Given the description of an element on the screen output the (x, y) to click on. 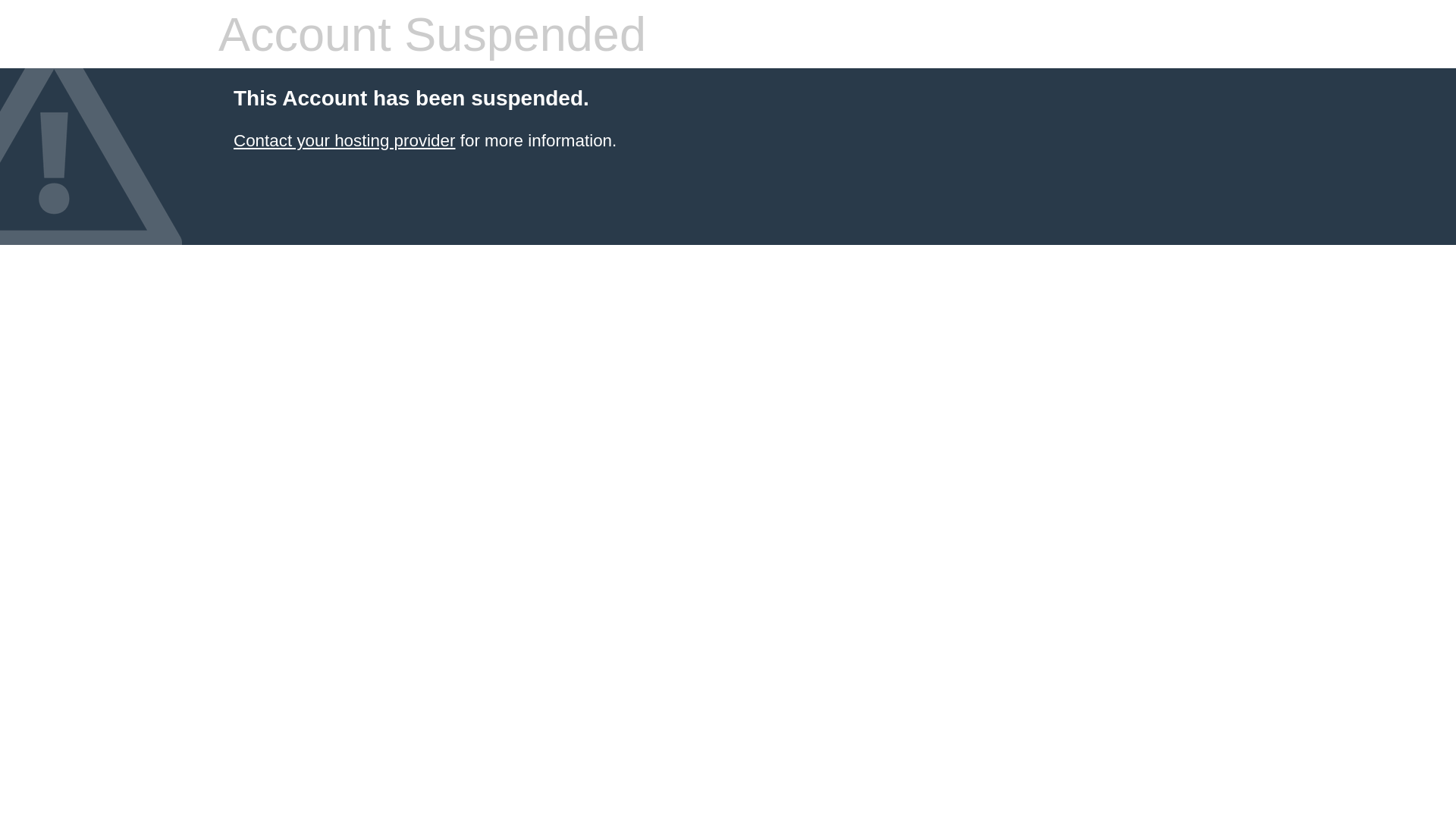
Contact your hosting provider Element type: text (344, 140)
